Given the description of an element on the screen output the (x, y) to click on. 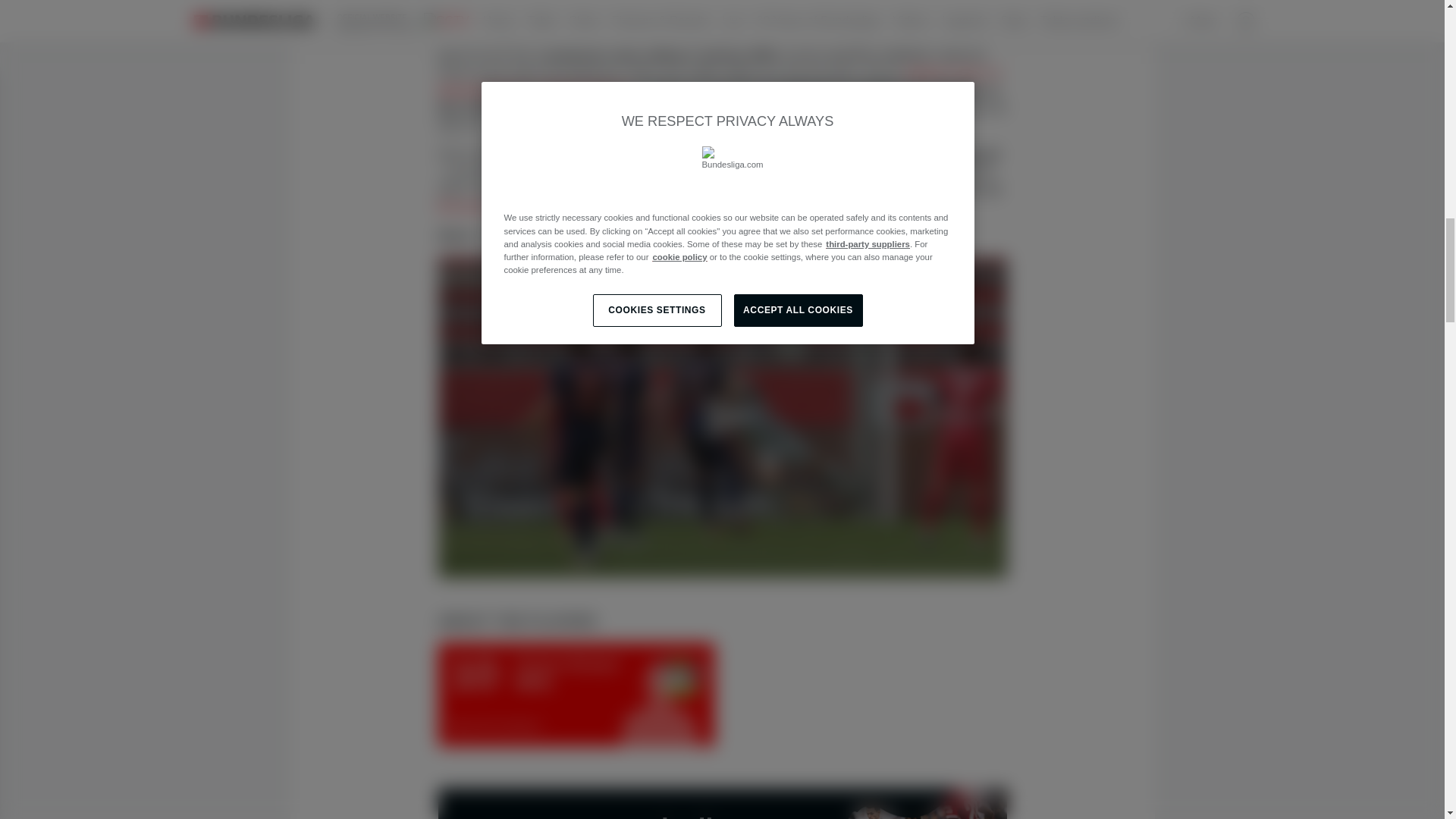
Florian Richard Wirtz (576, 694)
